Given the description of an element on the screen output the (x, y) to click on. 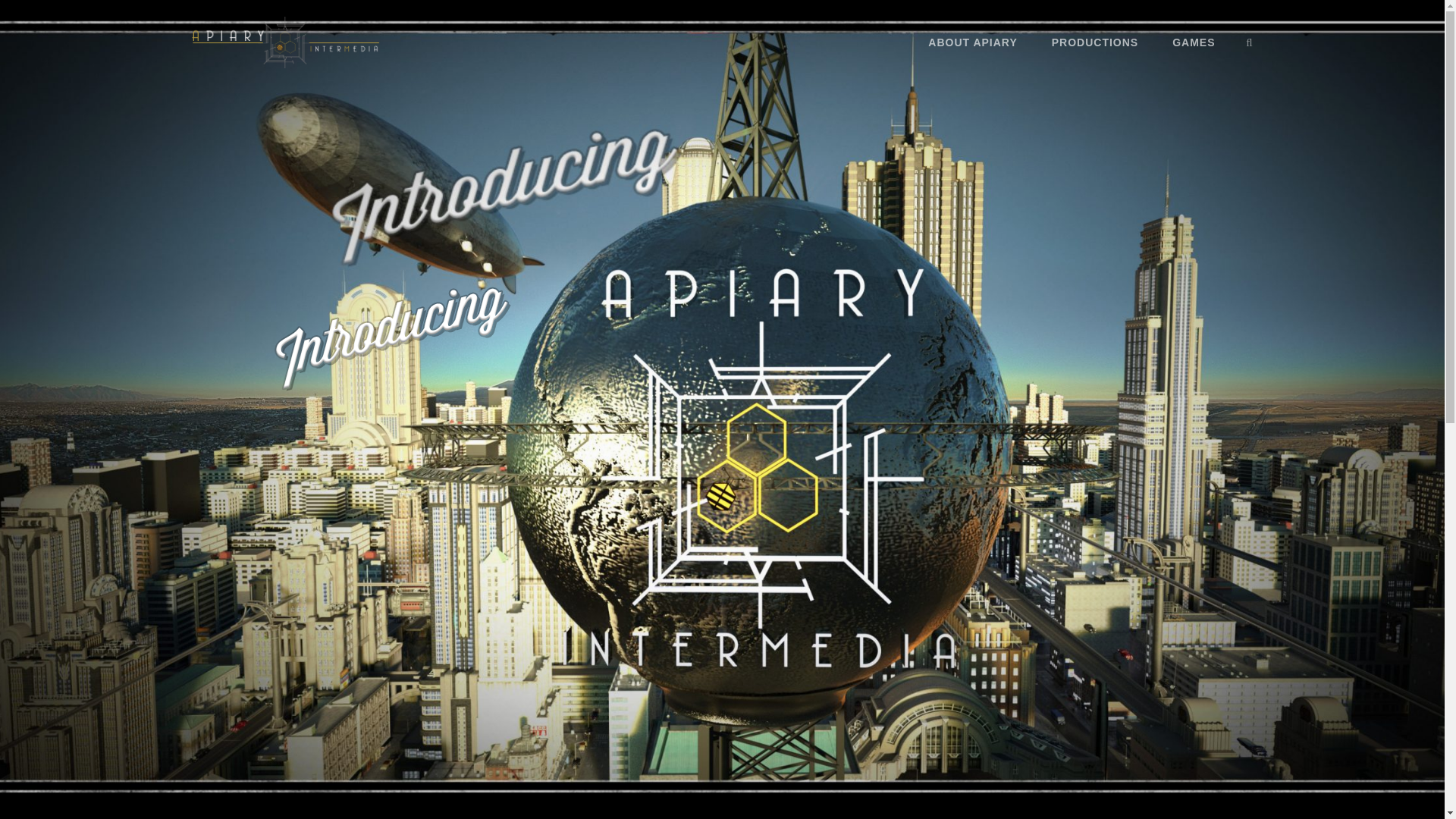
PRODUCTIONS (1094, 42)
GAMES (1193, 42)
APIARY INTERMEDIA (492, 55)
ABOUT APIARY (972, 42)
SEARCH (1249, 42)
